Given the description of an element on the screen output the (x, y) to click on. 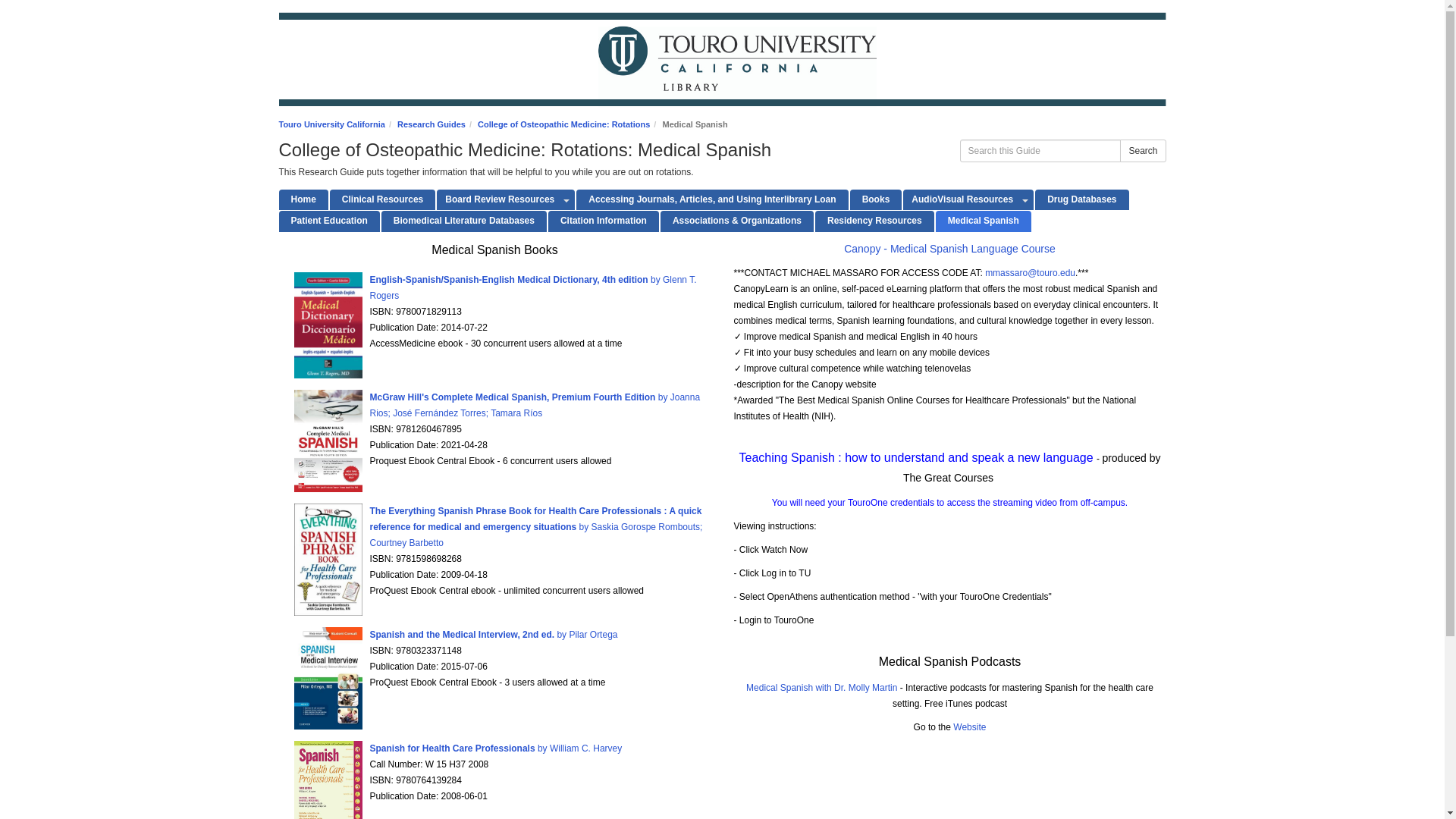
Books (876, 199)
Biomedical Literature Databases (464, 220)
Search (1142, 150)
Clinical Resources (382, 199)
Home (304, 199)
Medical Spanish (983, 220)
Canopy - Medical Spanish Language Course (949, 248)
Patient Education (329, 220)
